Given the description of an element on the screen output the (x, y) to click on. 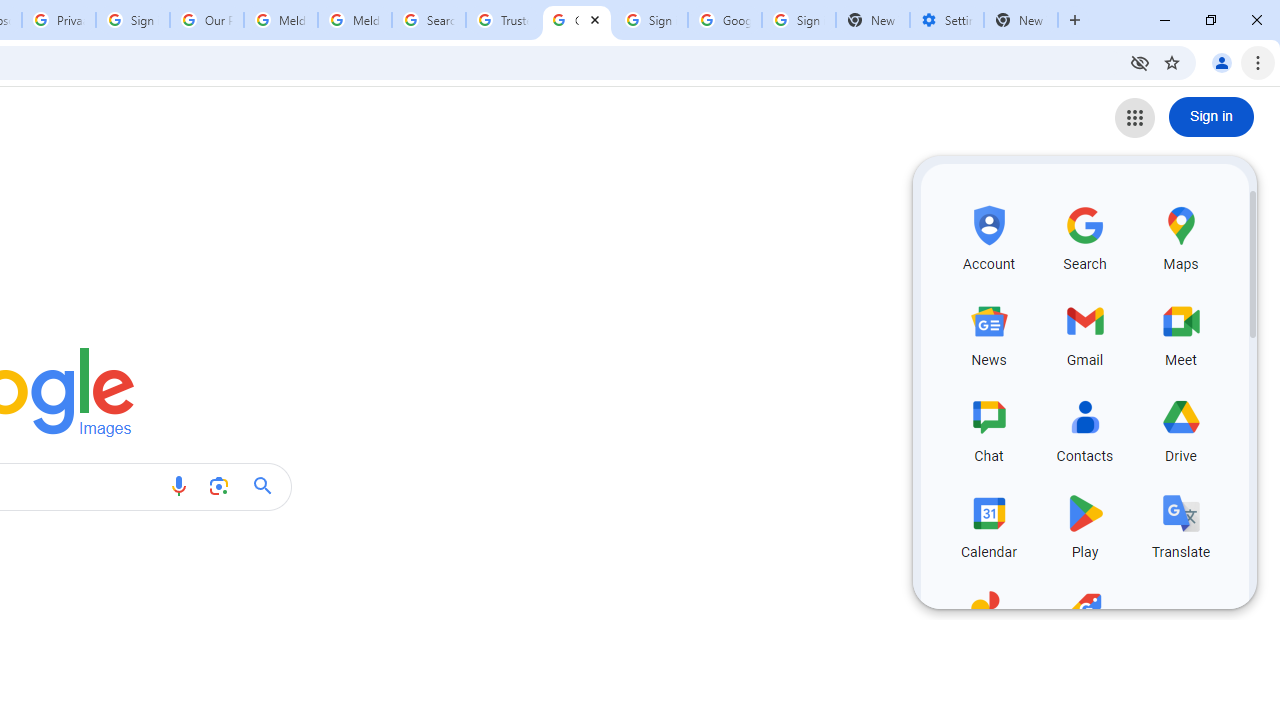
Google Cybersecurity Innovations - Google Safety Center (724, 20)
Drive, row 3 of 5 and column 3 of 3 in the first section (1180, 427)
Search by image (218, 485)
Photos, row 5 of 5 and column 1 of 3 in the first section (988, 619)
New Tab (1021, 20)
Calendar, row 4 of 5 and column 1 of 3 in the first section (988, 523)
Gmail, row 2 of 5 and column 2 of 3 in the first section (1084, 331)
Sign in - Google Accounts (798, 20)
Play, row 4 of 5 and column 2 of 3 in the first section (1084, 523)
Trusted Information and Content - Google Safety Center (502, 20)
